Given the description of an element on the screen output the (x, y) to click on. 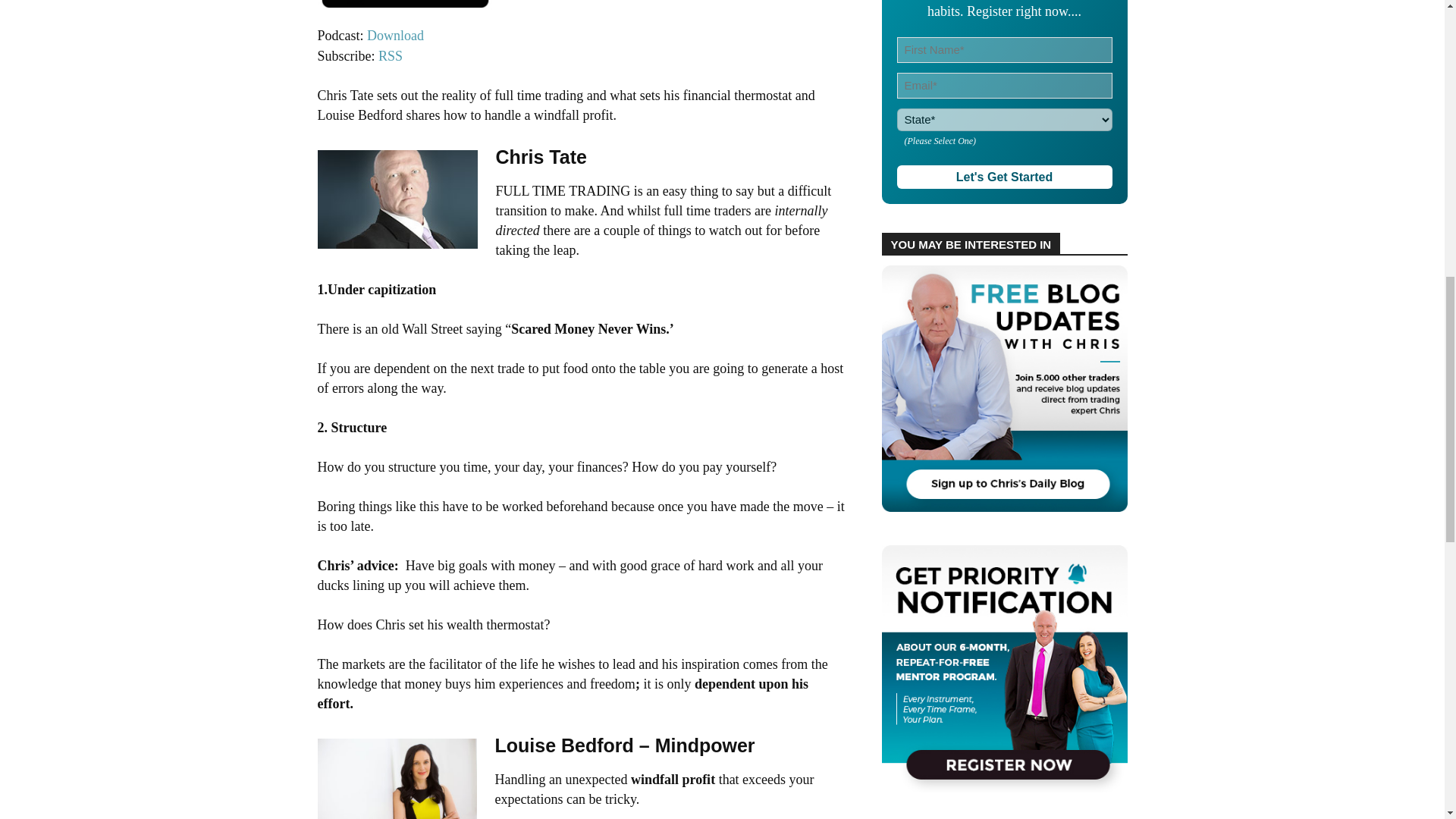
Download (394, 35)
Play (404, 12)
Play (404, 4)
